Given the description of an element on the screen output the (x, y) to click on. 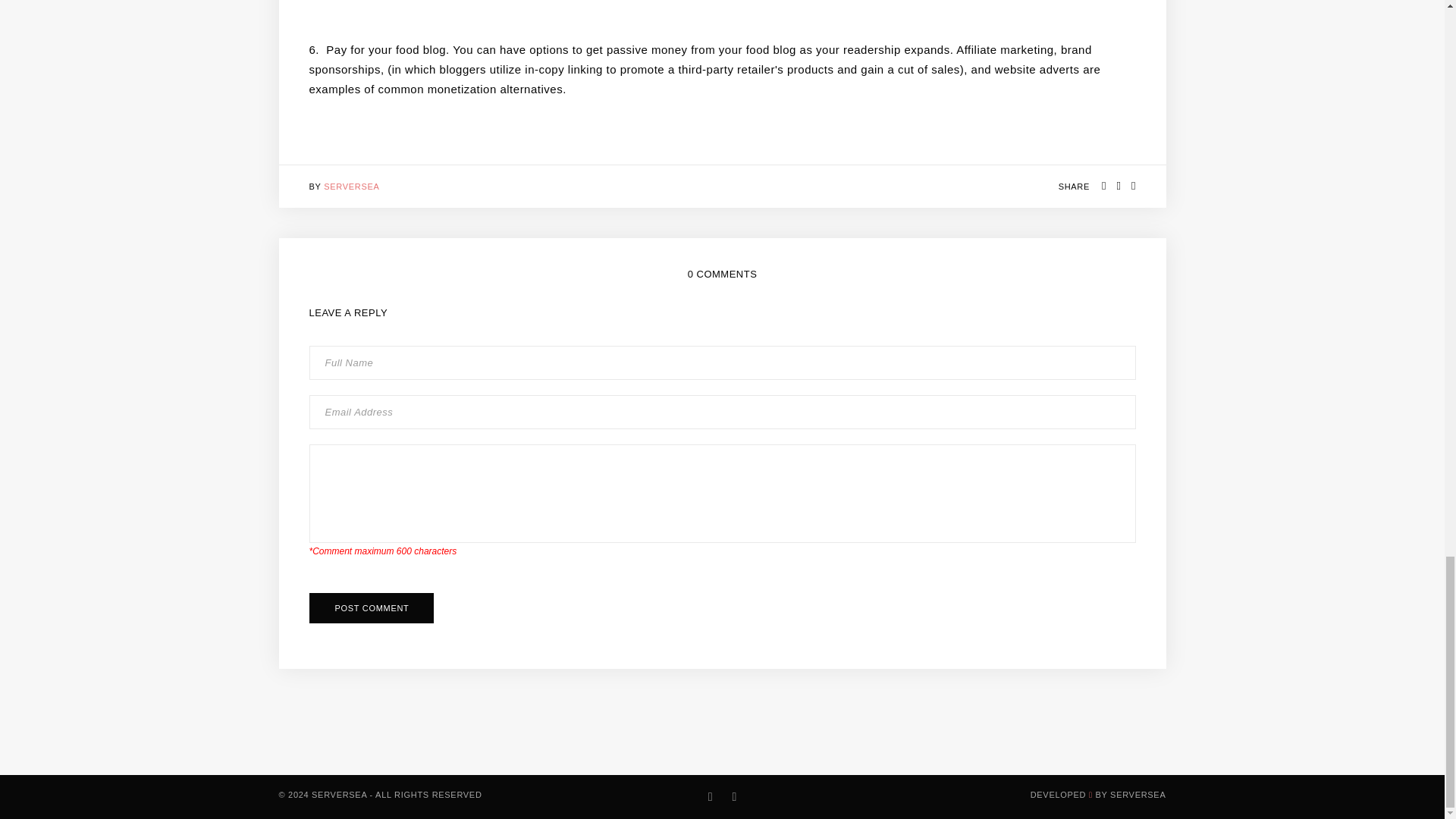
Post Comment (370, 607)
SERVERSEA (350, 185)
SERVERSEA (1137, 794)
Post Comment (370, 607)
